Given the description of an element on the screen output the (x, y) to click on. 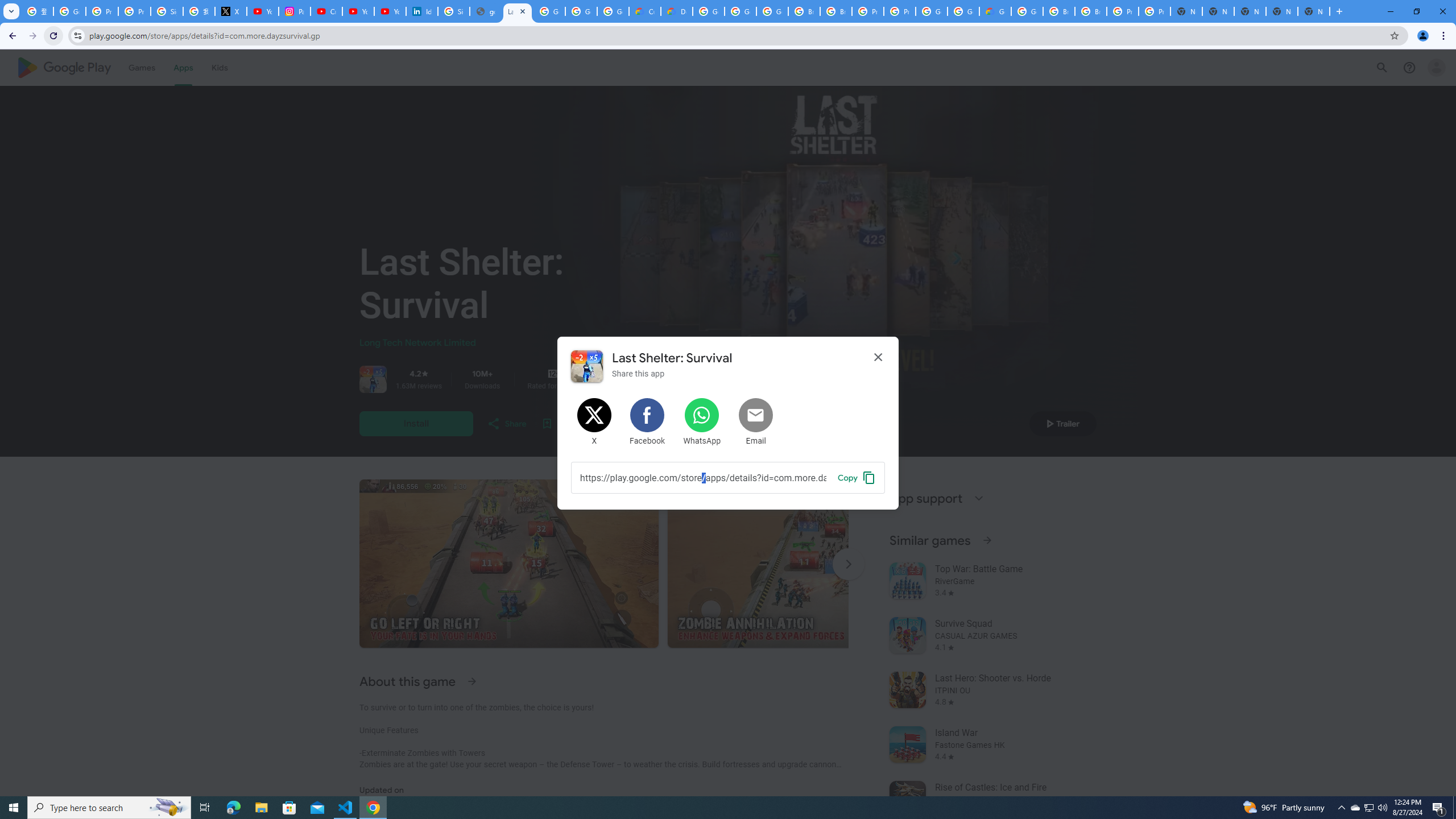
YouTube Content Monetization Policies - How YouTube Works (262, 11)
Share on Facebook (647, 421)
Share by Email (755, 421)
Share on WhatsApp (701, 421)
Google Workspace - Specific Terms (613, 11)
Customer Care | Google Cloud (644, 11)
X (230, 11)
YouTube Culture & Trends - YouTube Top 10, 2021 (389, 11)
